Given the description of an element on the screen output the (x, y) to click on. 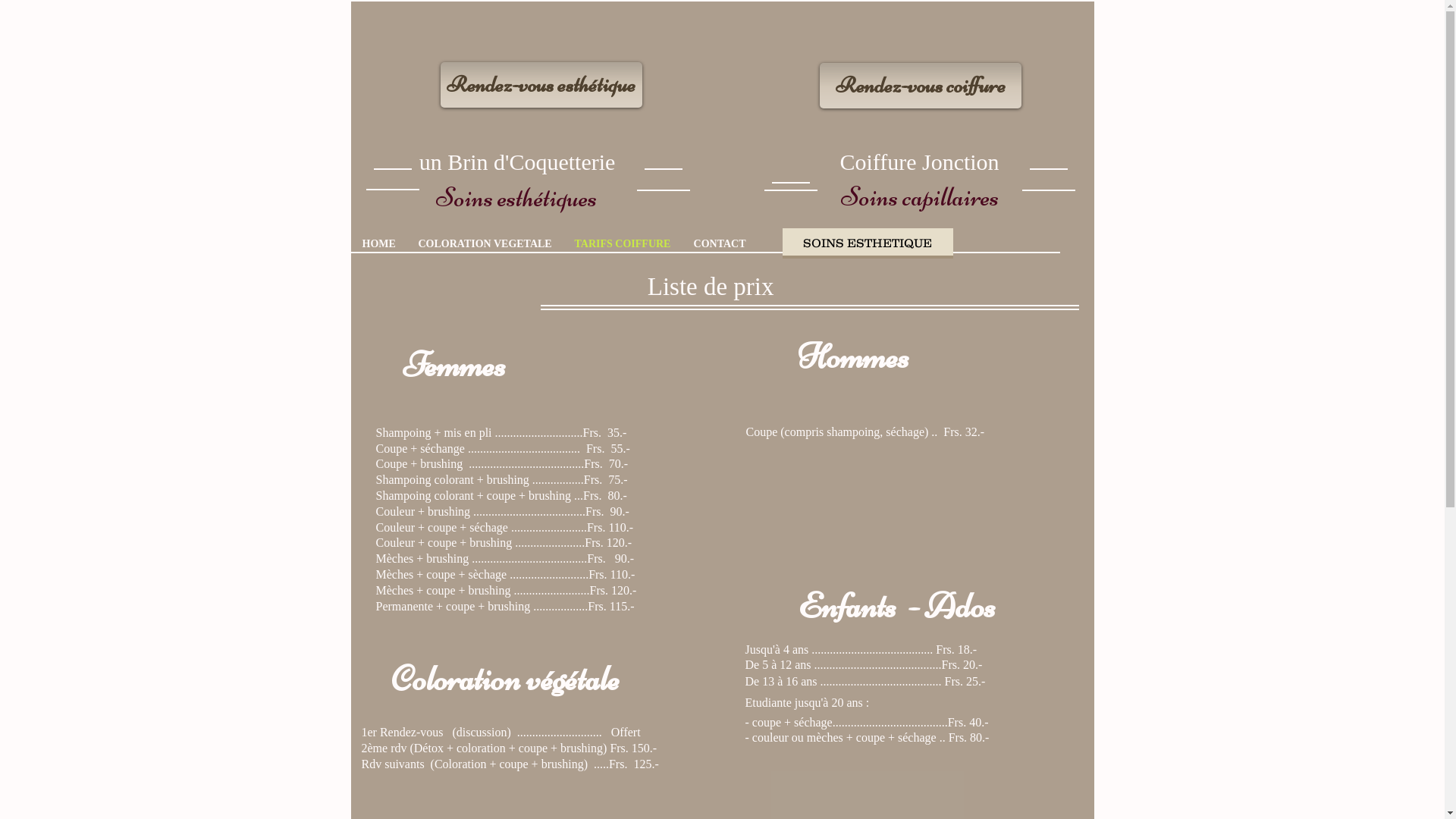
HOME Element type: text (378, 243)
SOINS ESTHETIQUE Element type: text (867, 243)
CONTACT Element type: text (719, 243)
COLORATION VEGETALE Element type: text (484, 243)
Rendez-vous coiffure Element type: text (919, 85)
TARIFS COIFFURE Element type: text (621, 243)
